Given the description of an element on the screen output the (x, y) to click on. 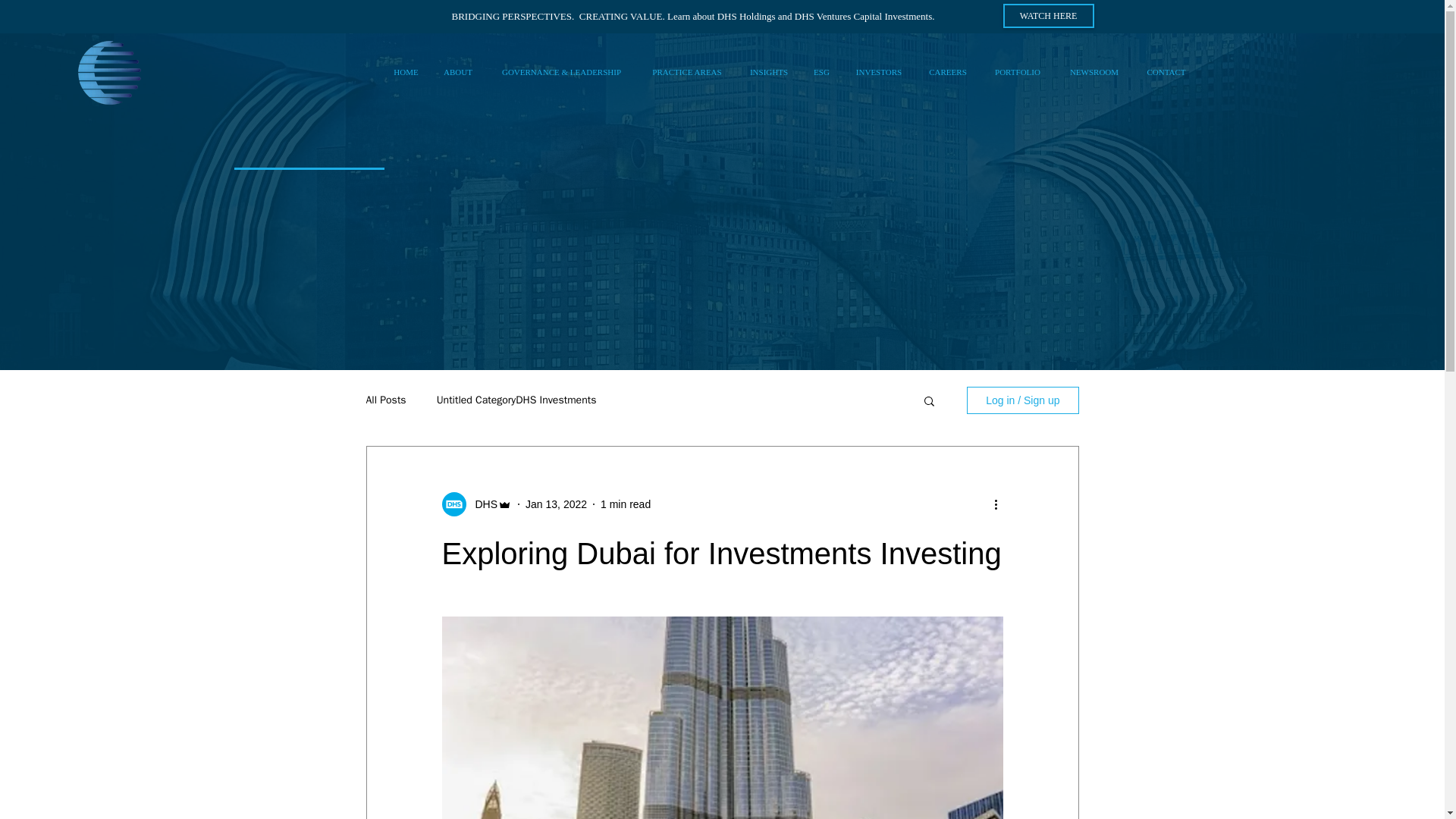
PORTFOLIO (1016, 71)
1 min read (624, 503)
Untitled CategoryDHS Investments (516, 400)
CONTACT (1165, 71)
WATCH HERE (1048, 15)
PRACTICE AREAS (686, 71)
INVESTORS (878, 71)
INSIGHTS (769, 71)
CAREERS (947, 71)
DHS (481, 504)
